Given the description of an element on the screen output the (x, y) to click on. 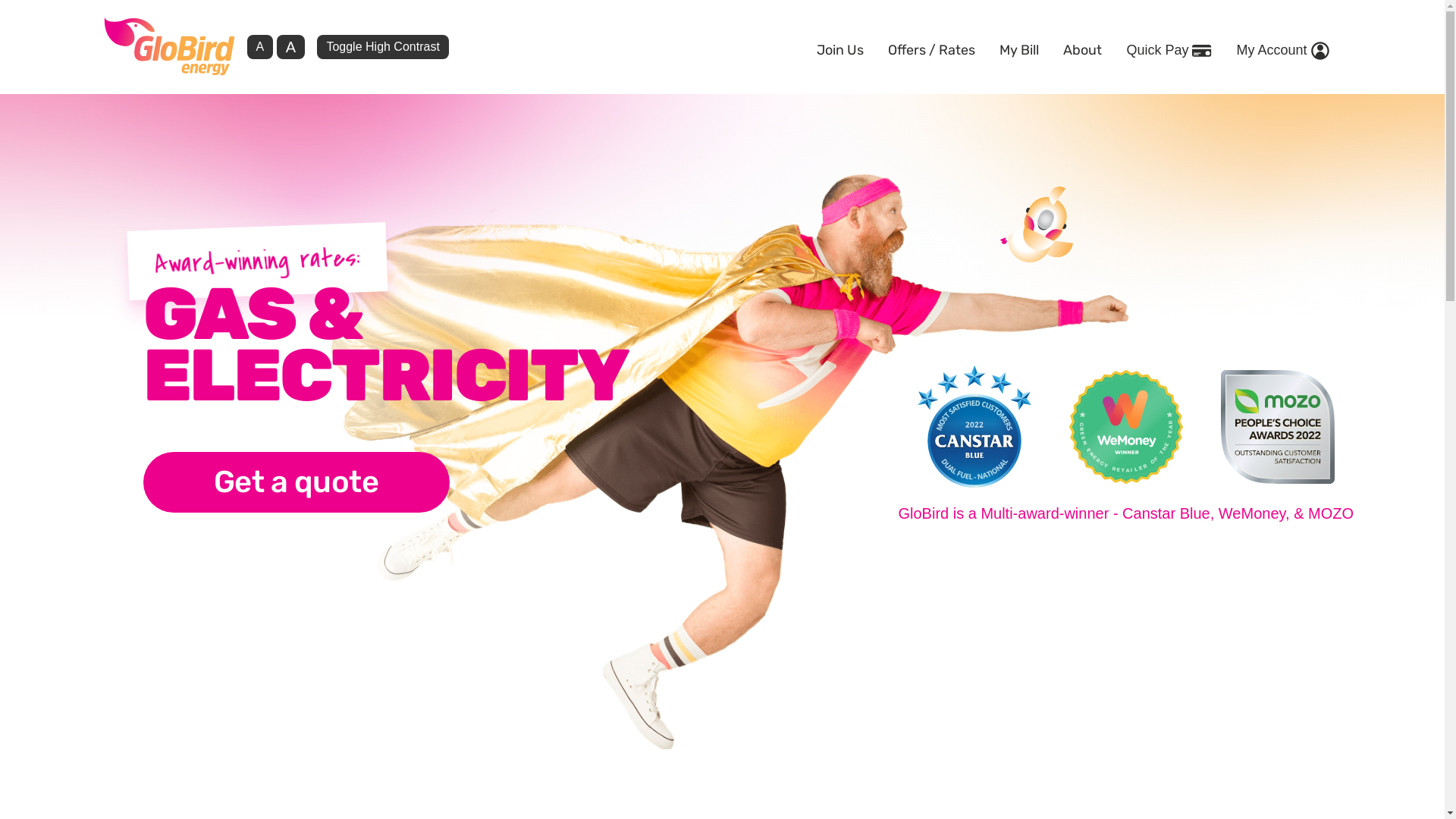
A Element type: text (290, 46)
A Element type: text (260, 46)
Toggle High Contrast Element type: text (382, 46)
My Account Element type: text (1281, 46)
My Bill Element type: text (1019, 46)
About Element type: text (1082, 46)
Globird Energy Element type: text (168, 45)
Join Us Element type: text (839, 46)
Offers / Rates Element type: text (931, 46)
Quick Pay Element type: text (1168, 46)
Skip to primary navigation Element type: text (0, 91)
Get a quote Element type: text (295, 481)
